Given the description of an element on the screen output the (x, y) to click on. 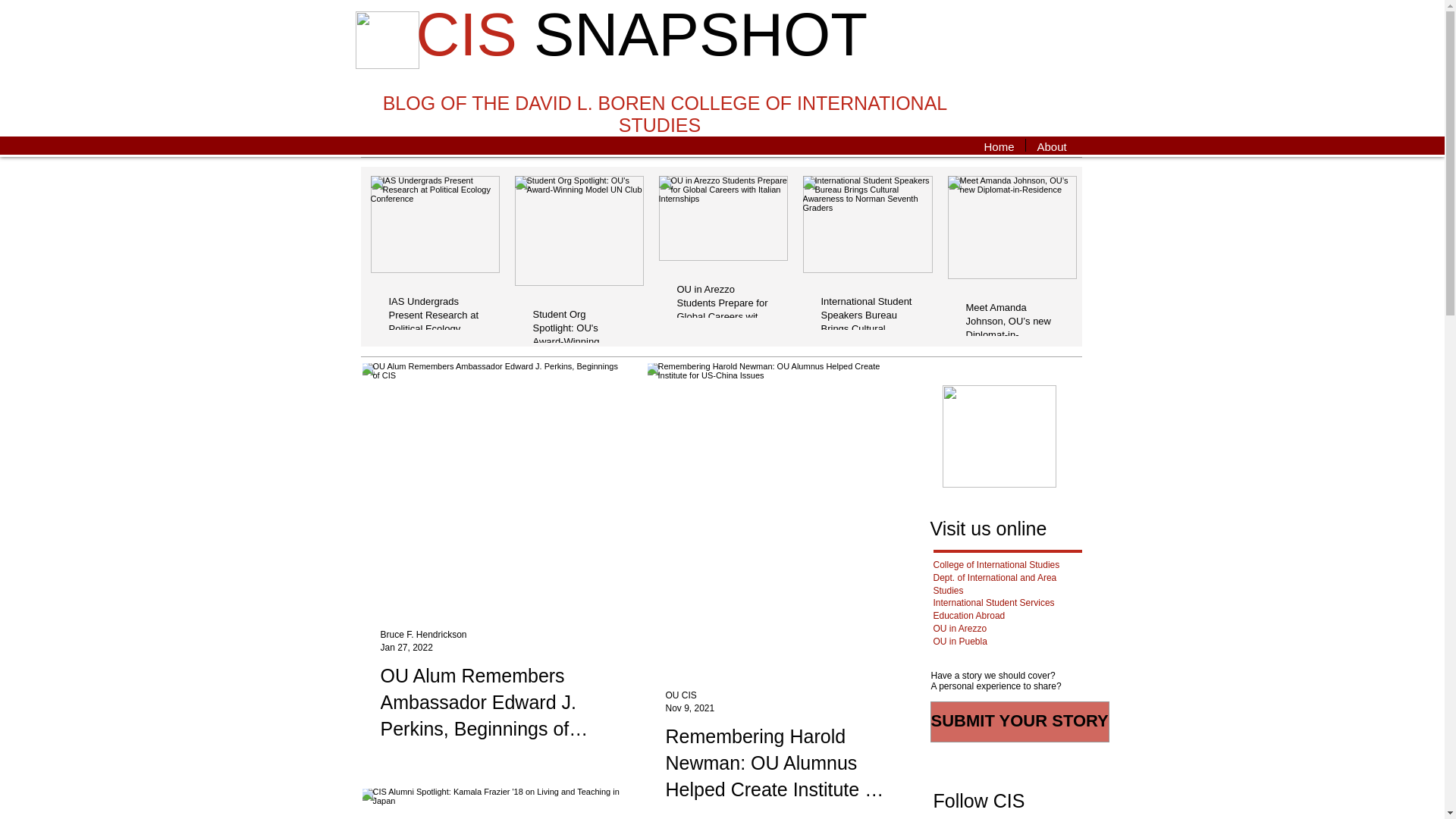
OU CIS (681, 695)
Dept. of International and Area Studies (995, 584)
SUBMIT YOUR STORY (1019, 721)
OU in Puebla (960, 641)
Jan 27, 2022 (406, 646)
CIS SNAPSHOT (640, 33)
International Student Services (993, 602)
Home (998, 144)
Nov 9, 2021 (689, 706)
Student Org Spotlight: OU's Award-Winning Model UN Club (578, 328)
Education Abroad (968, 615)
College of International Studies (996, 564)
